Given the description of an element on the screen output the (x, y) to click on. 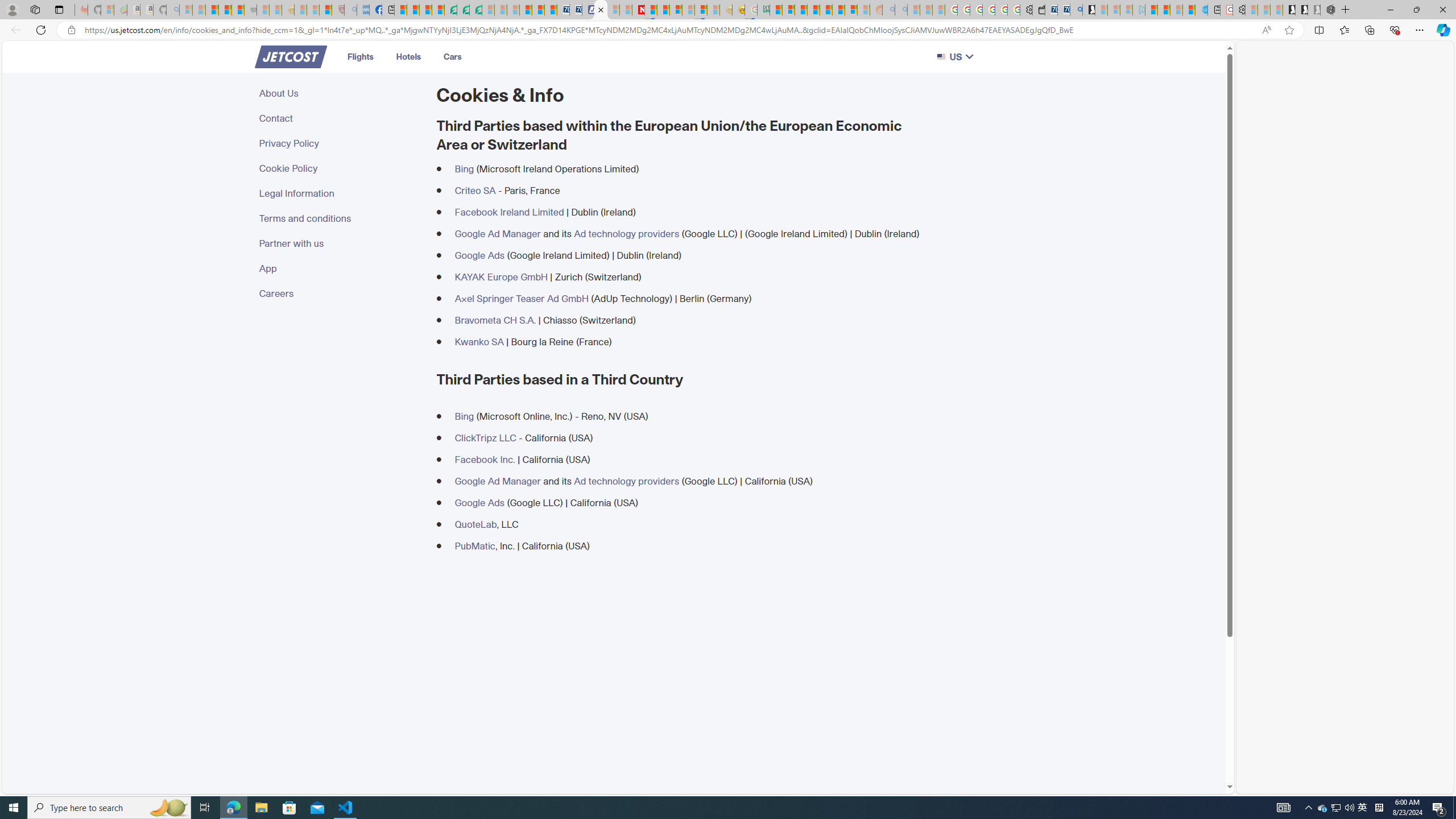
Privacy Policy (341, 142)
Bravometa CH S.A. (494, 319)
Legal Information (341, 192)
Ad technology providers (625, 480)
Contact (341, 118)
